Given the description of an element on the screen output the (x, y) to click on. 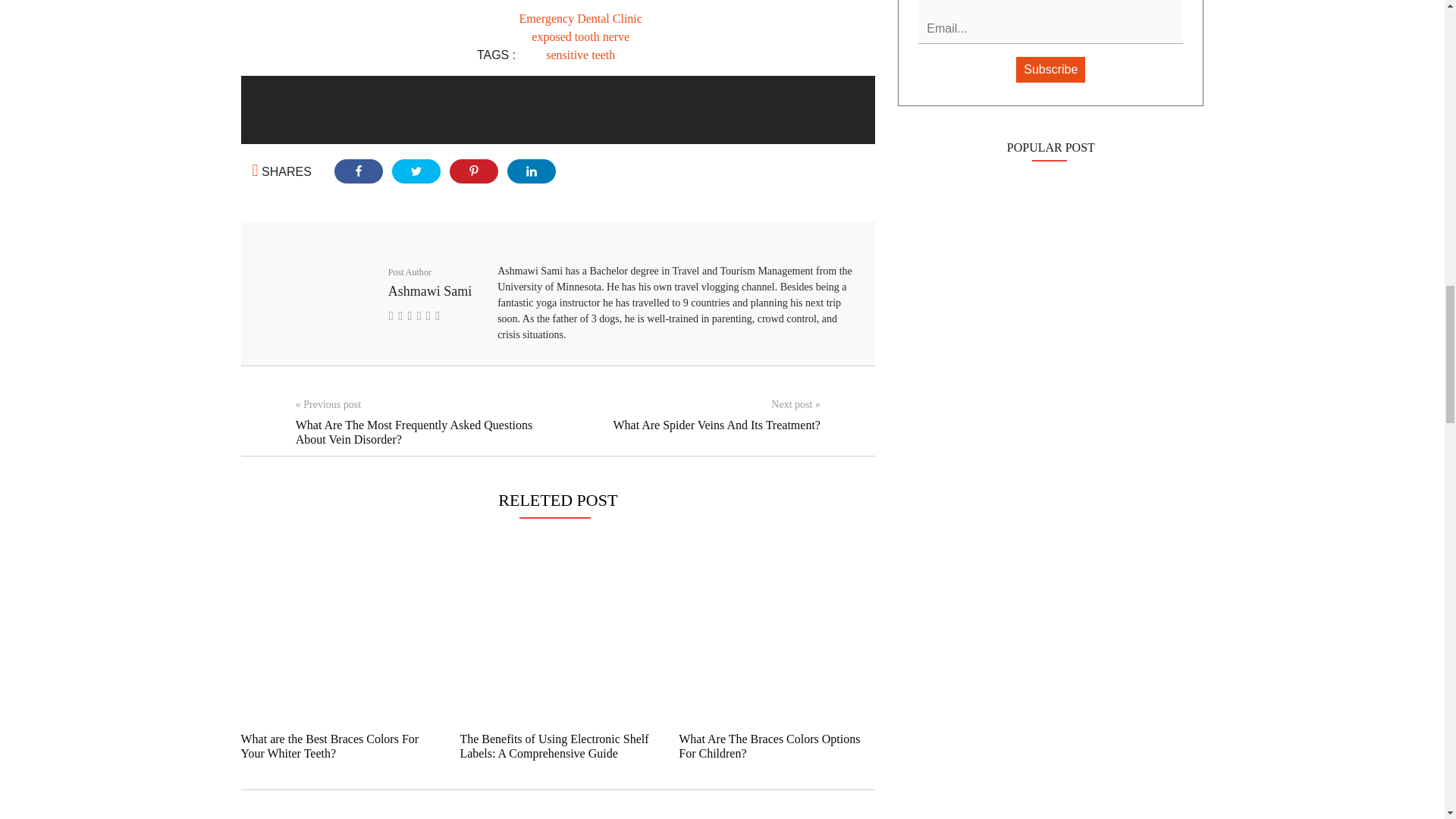
sensitive teeth (580, 54)
What Are The Braces Colors Options For Children? (769, 746)
sensitive teeth Tag (580, 54)
What are the Best Braces Colors For Your Whiter Teeth? (330, 746)
exposed tooth nerve (579, 36)
Share on Facebook (358, 170)
exposed tooth nerve Tag (579, 36)
Share on Twitter (416, 170)
Emergency Dental Clinic Tag (580, 18)
Share on Pinterest (473, 170)
